Given the description of an element on the screen output the (x, y) to click on. 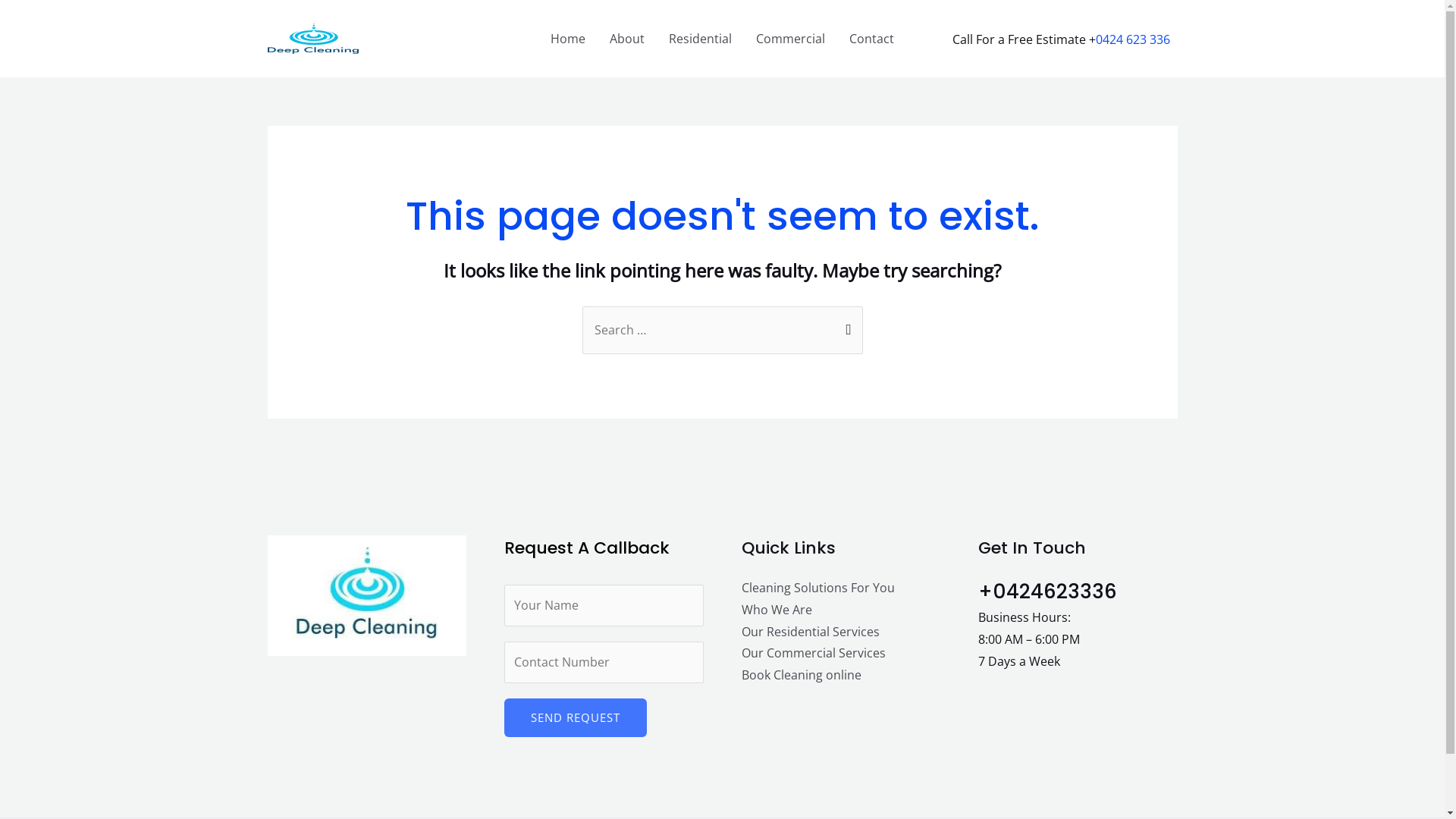
Book Cleaning online Element type: text (801, 674)
Home Element type: text (567, 38)
0424 623 336 Element type: text (1132, 39)
SEND REQUEST Element type: text (575, 717)
Commercial Element type: text (790, 38)
Our Commercial Services Element type: text (813, 652)
Contact Element type: text (871, 38)
About Element type: text (626, 38)
Cleaning Solutions For You Element type: text (817, 587)
Our Residential Services Element type: text (810, 631)
Who We Are Element type: text (776, 609)
Residential Element type: text (699, 38)
Search Element type: text (845, 321)
